Given the description of an element on the screen output the (x, y) to click on. 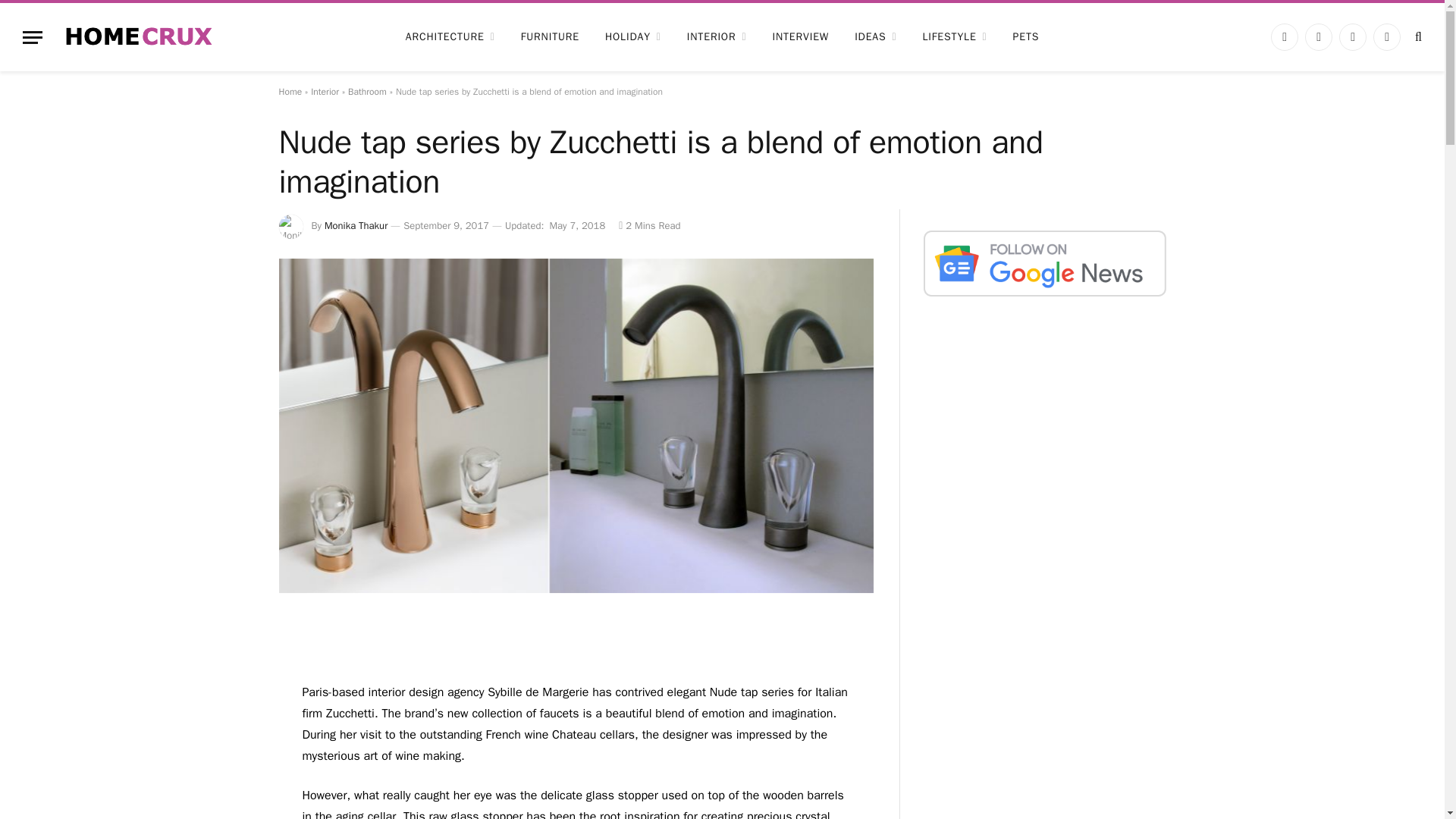
Search (1417, 36)
Homecrux (138, 36)
